Given the description of an element on the screen output the (x, y) to click on. 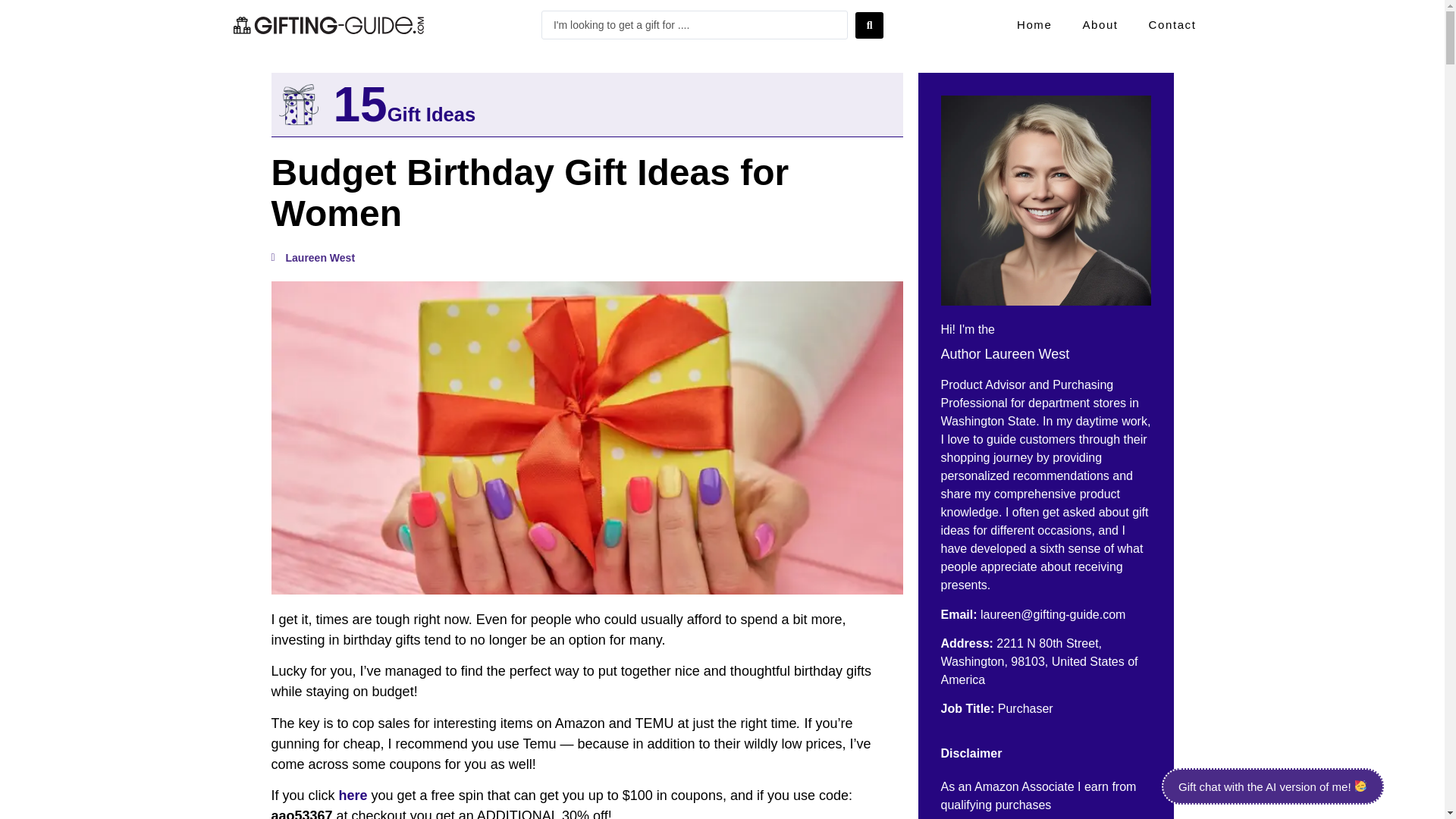
Laureen West (312, 258)
Contact (1172, 24)
Home (1034, 24)
About (1099, 24)
here (355, 795)
